Given the description of an element on the screen output the (x, y) to click on. 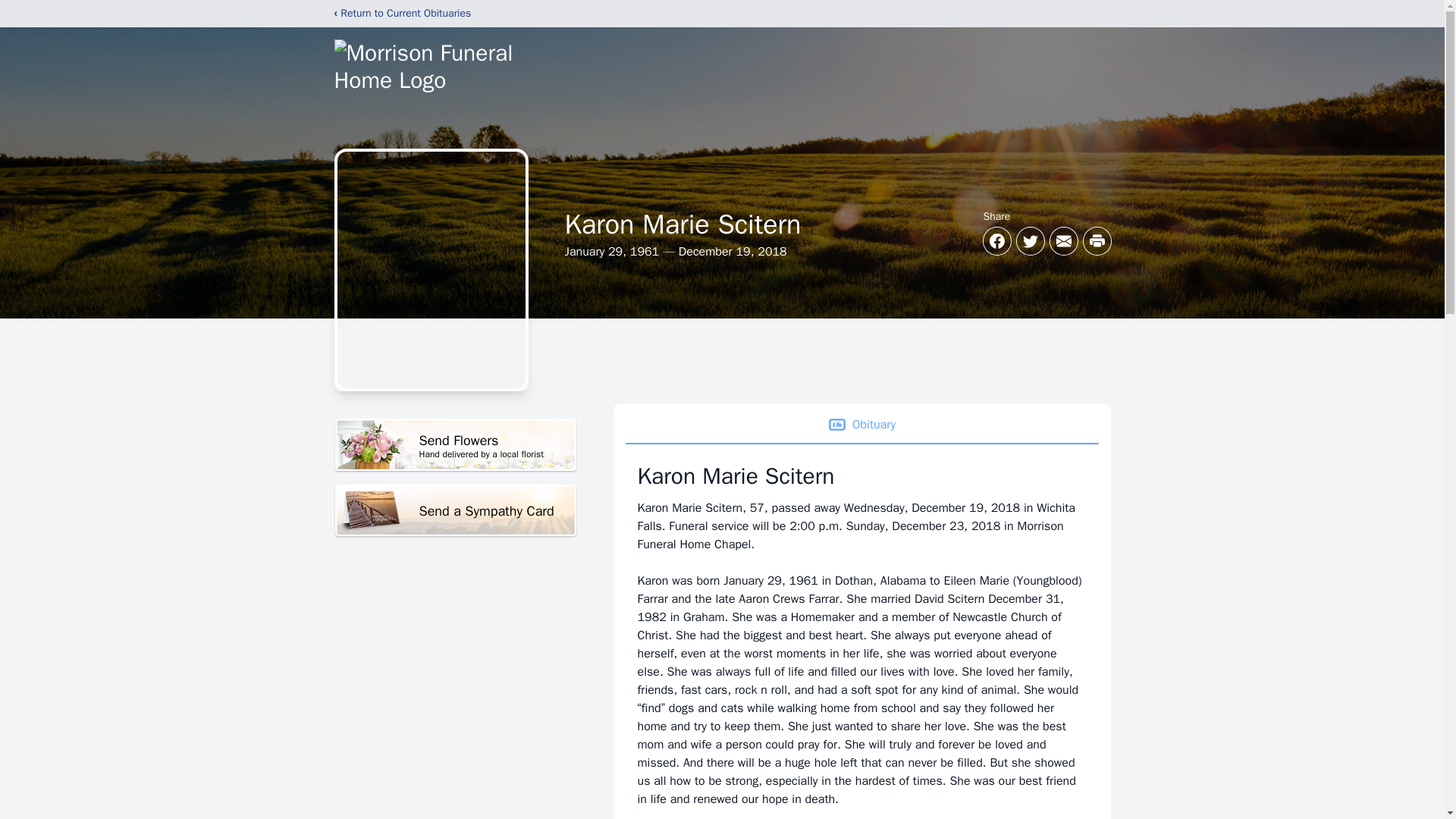
Obituary (860, 425)
Send a Sympathy Card (454, 511)
